Given the description of an element on the screen output the (x, y) to click on. 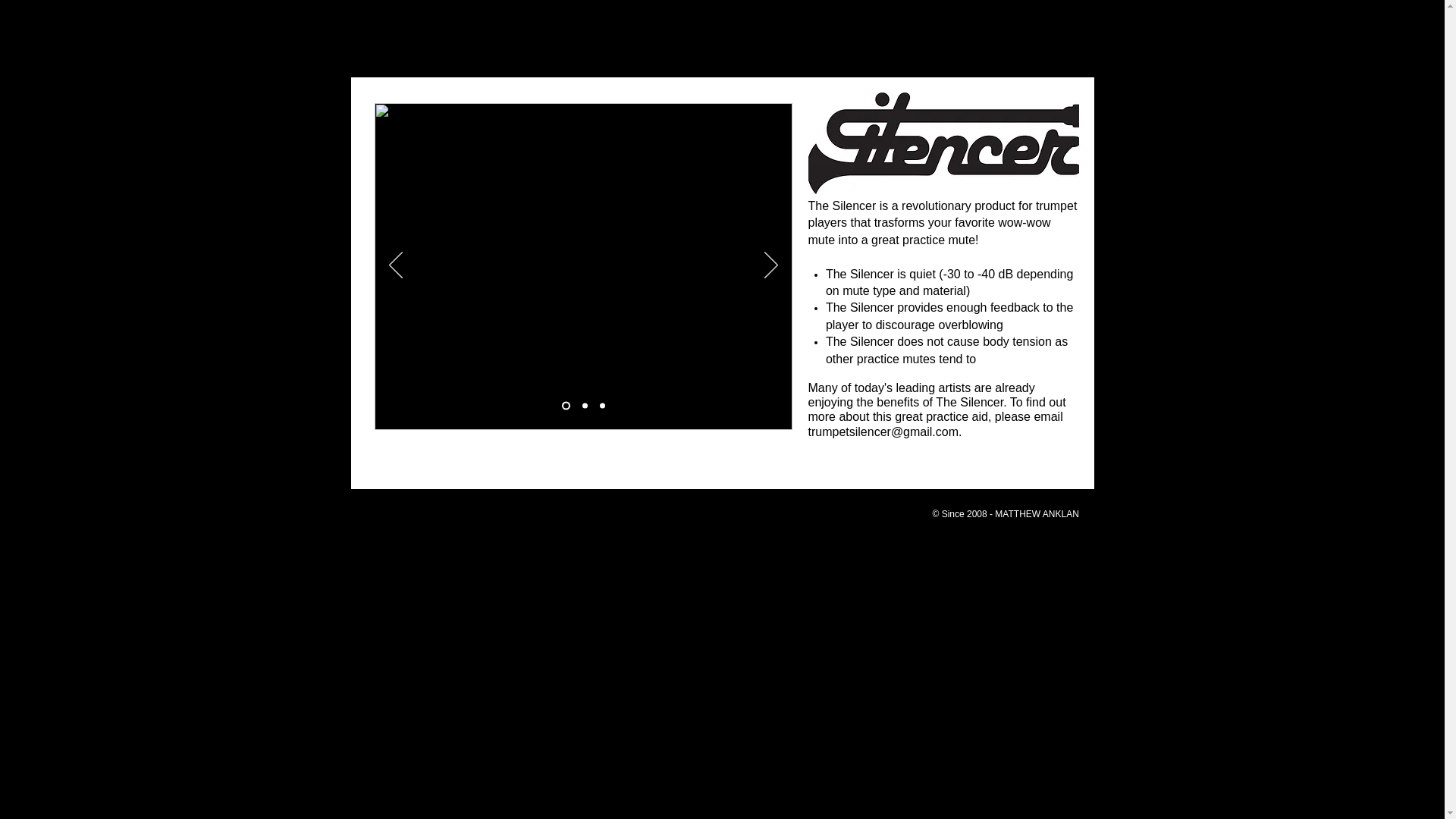
Facebook Like (1139, 69)
